Given the description of an element on the screen output the (x, y) to click on. 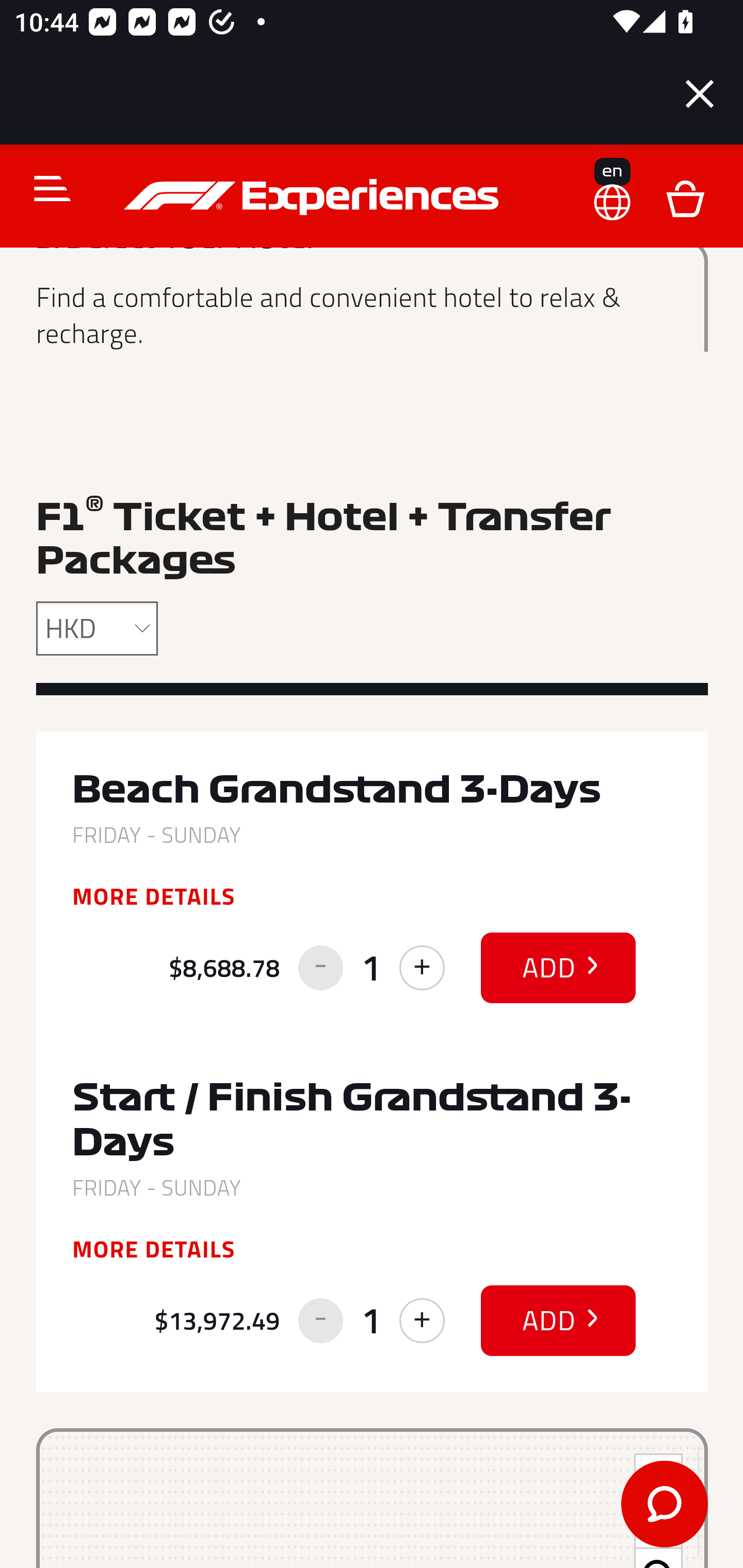
Close (699, 93)
Toggle navigation C (43, 188)
D (684, 197)
f1experiences (313, 197)
HKD (97, 628)
MORE DETAILS (154, 896)
ADD I (558, 967)
- (320, 967)
+ (421, 967)
MORE DETAILS (154, 1249)
ADD I (558, 1321)
- (320, 1321)
+ (421, 1321)
